Given the description of an element on the screen output the (x, y) to click on. 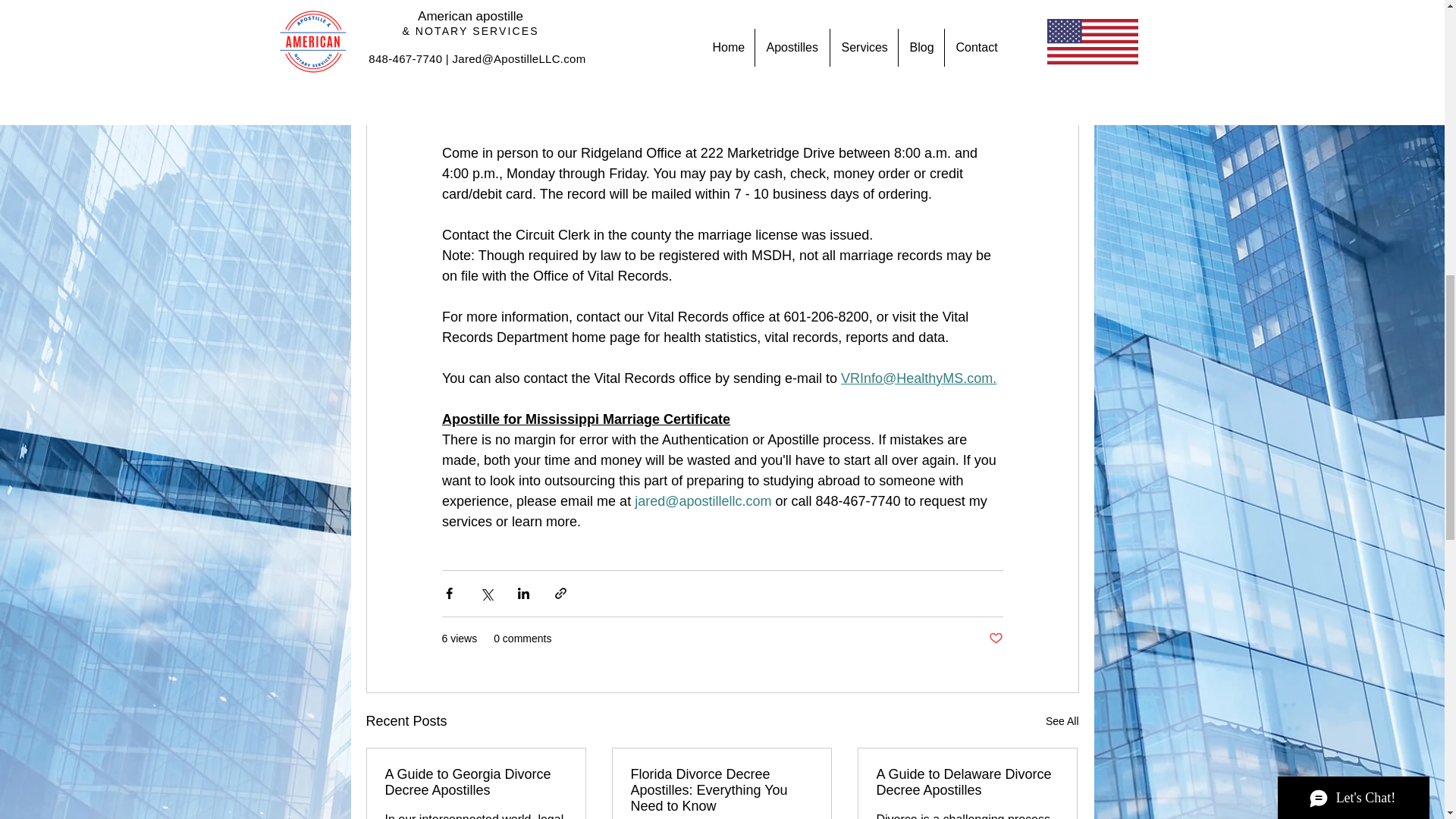
A Guide to Georgia Divorce Decree Apostilles (476, 782)
A Guide to Delaware Divorce Decree Apostilles (967, 782)
Post not marked as liked (995, 638)
See All (1061, 721)
